Given the description of an element on the screen output the (x, y) to click on. 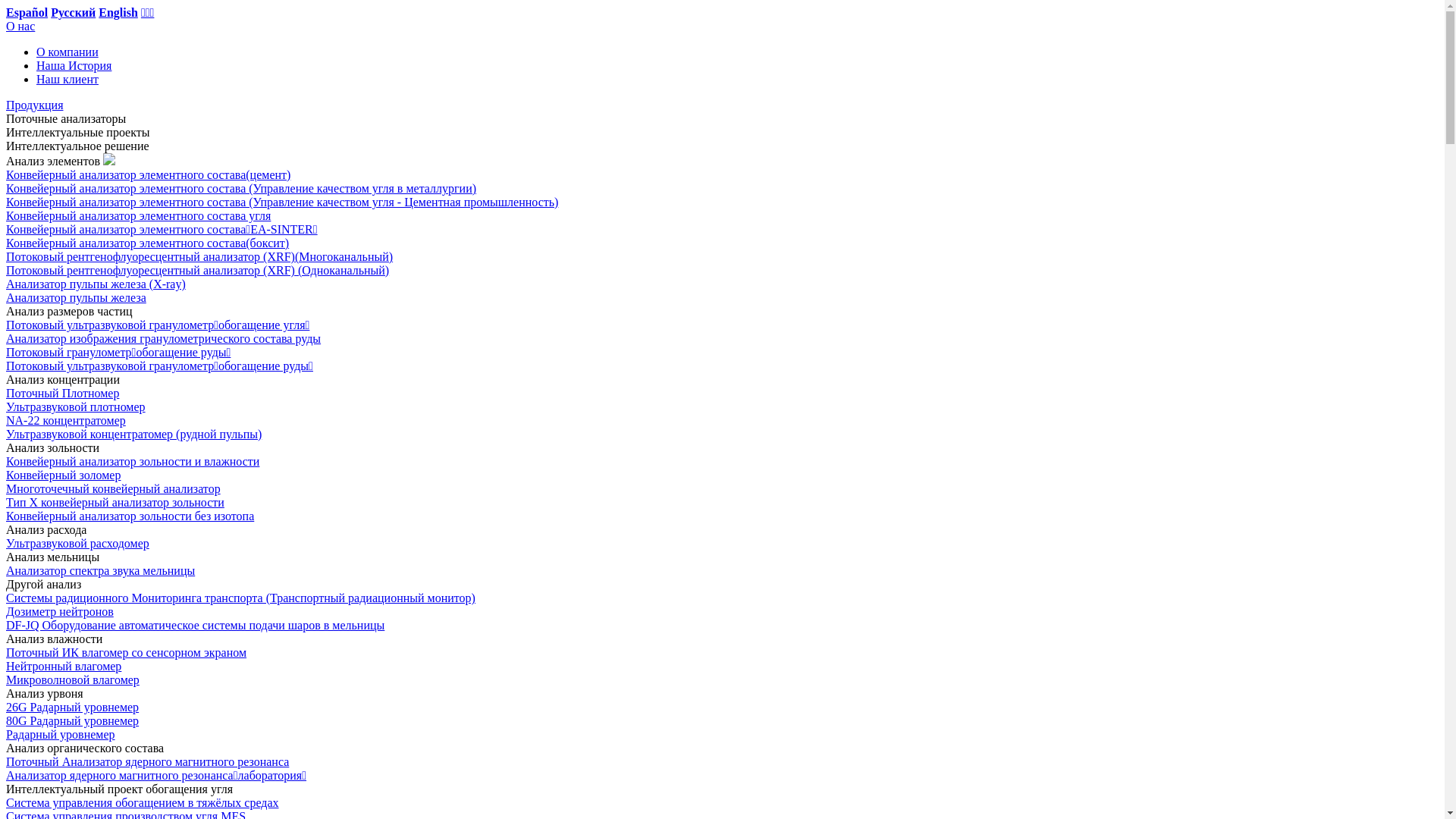
English Element type: text (118, 12)
